Given the description of an element on the screen output the (x, y) to click on. 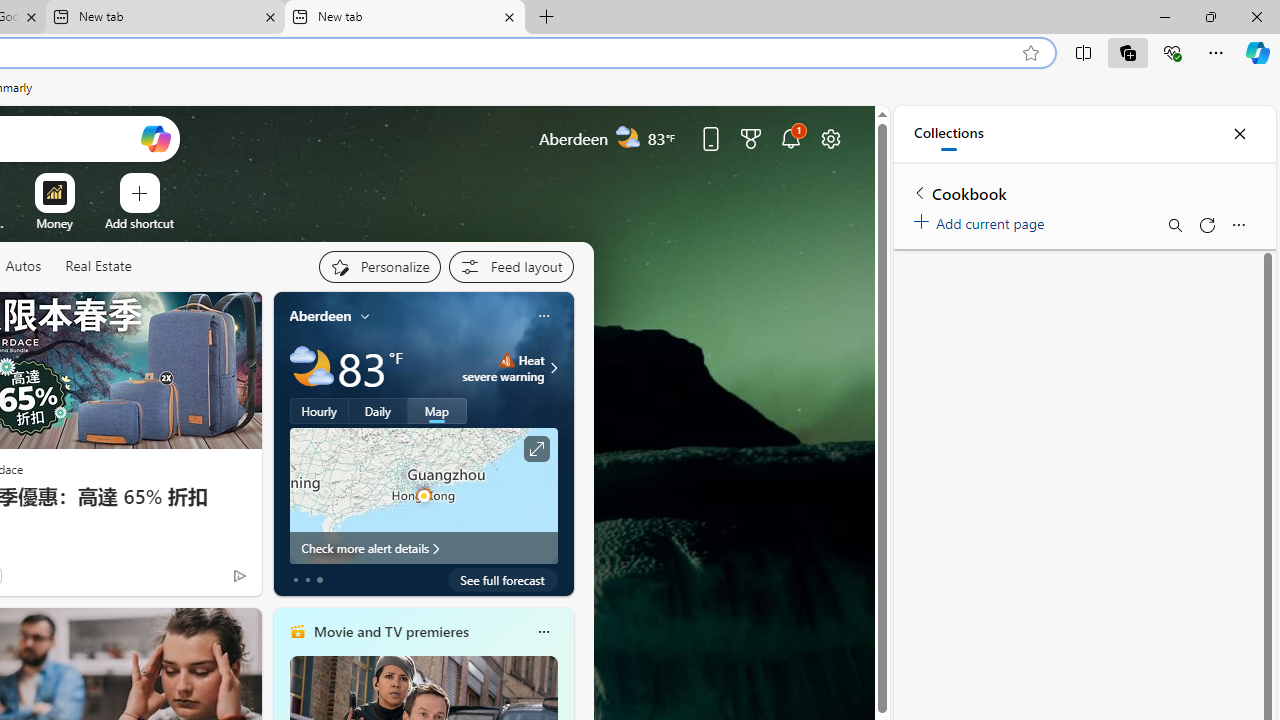
Check more alert details (423, 547)
Class: weather-arrow-glyph (554, 367)
Movie and TV premieres (390, 631)
Add a site (139, 223)
Personalize your feed" (379, 266)
Add current page (982, 219)
Click to see more information (536, 449)
Hourly (319, 411)
Heat - Severe (505, 359)
Class: icon-img (543, 632)
Partly cloudy (311, 368)
